Given the description of an element on the screen output the (x, y) to click on. 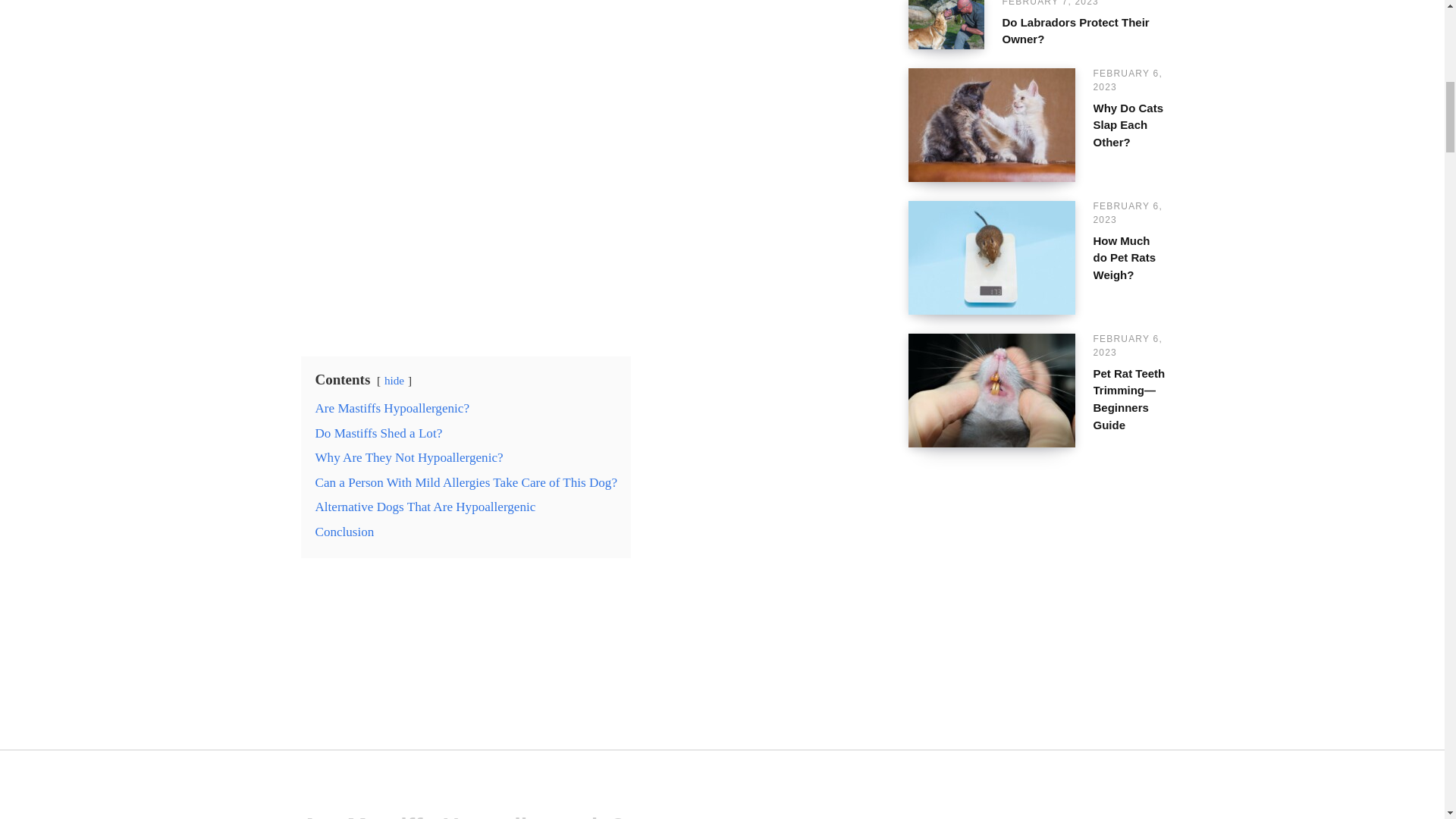
Are Mastiffs Hypoallergenic? (391, 408)
hide (394, 379)
